Given the description of an element on the screen output the (x, y) to click on. 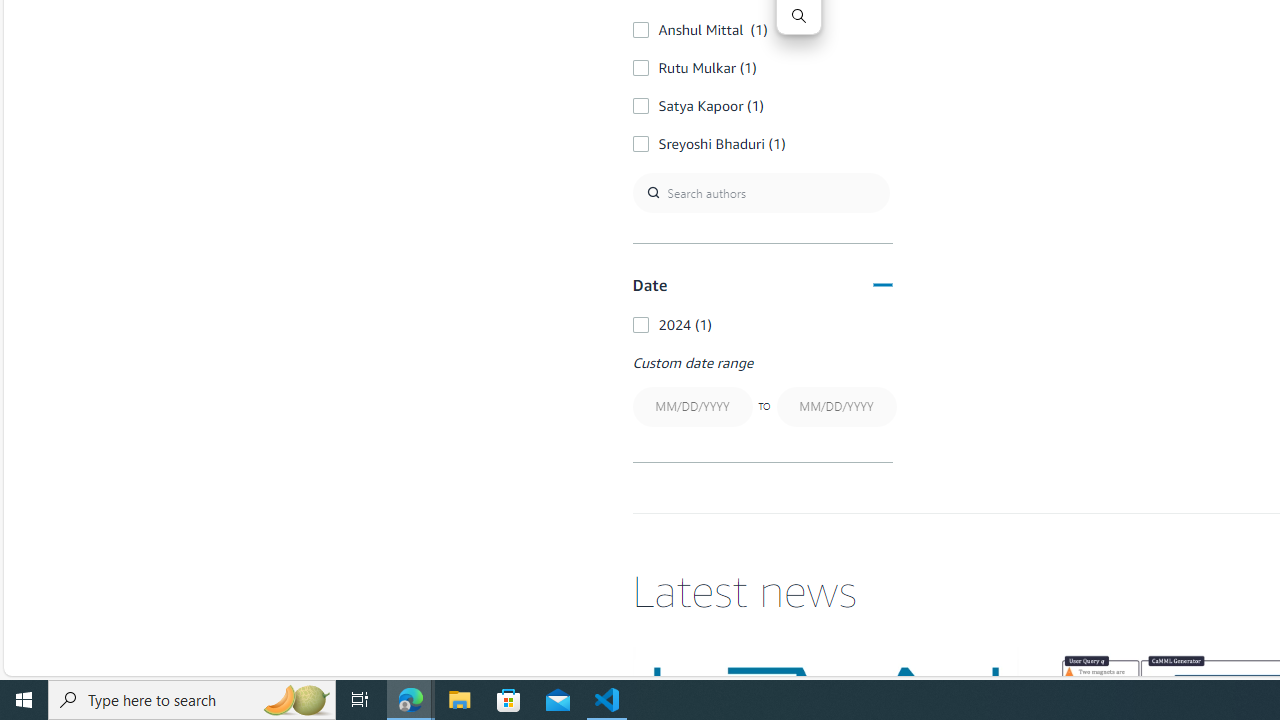
Search authors (760, 192)
Custom date rangeTO (762, 392)
Search (798, 15)
mm/dd/yyyy (836, 405)
